Given the description of an element on the screen output the (x, y) to click on. 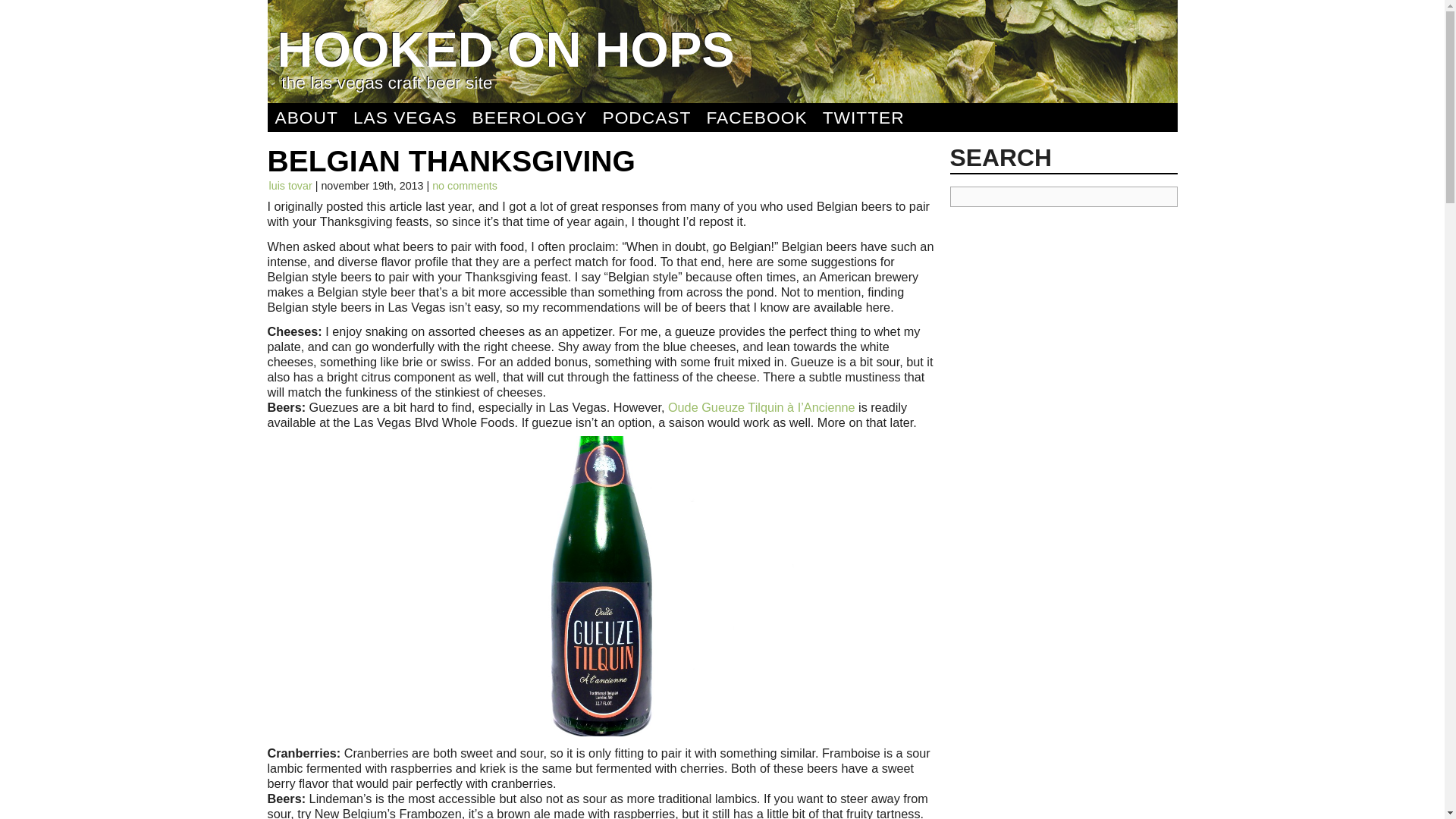
BEEROLOGY (529, 117)
Search (109, 10)
HOOKED ON HOPS (506, 49)
no comments (464, 186)
Posts by Luis Tovar (289, 186)
ABOUT (305, 117)
luis tovar (289, 186)
BELGIAN THANKSGIVING (450, 160)
Permanent Link to Belgian Thanksgiving (450, 160)
TWITTER (863, 117)
